Given the description of an element on the screen output the (x, y) to click on. 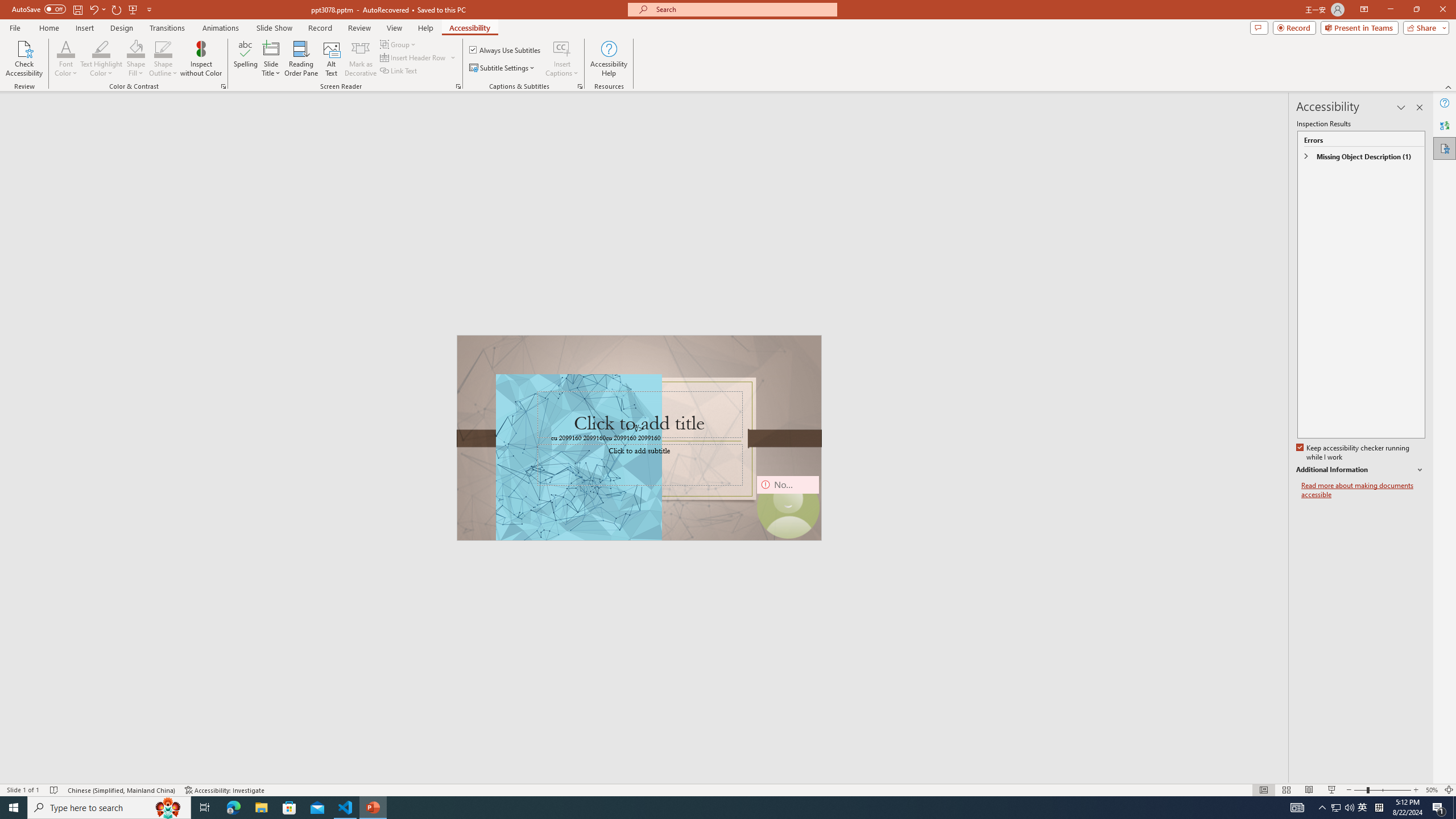
Alt Text (331, 58)
Screen Reader (458, 85)
Check Accessibility (23, 58)
Read more about making documents accessible (1363, 489)
Insert Header Row (418, 56)
Insert Captions (561, 48)
